Given the description of an element on the screen output the (x, y) to click on. 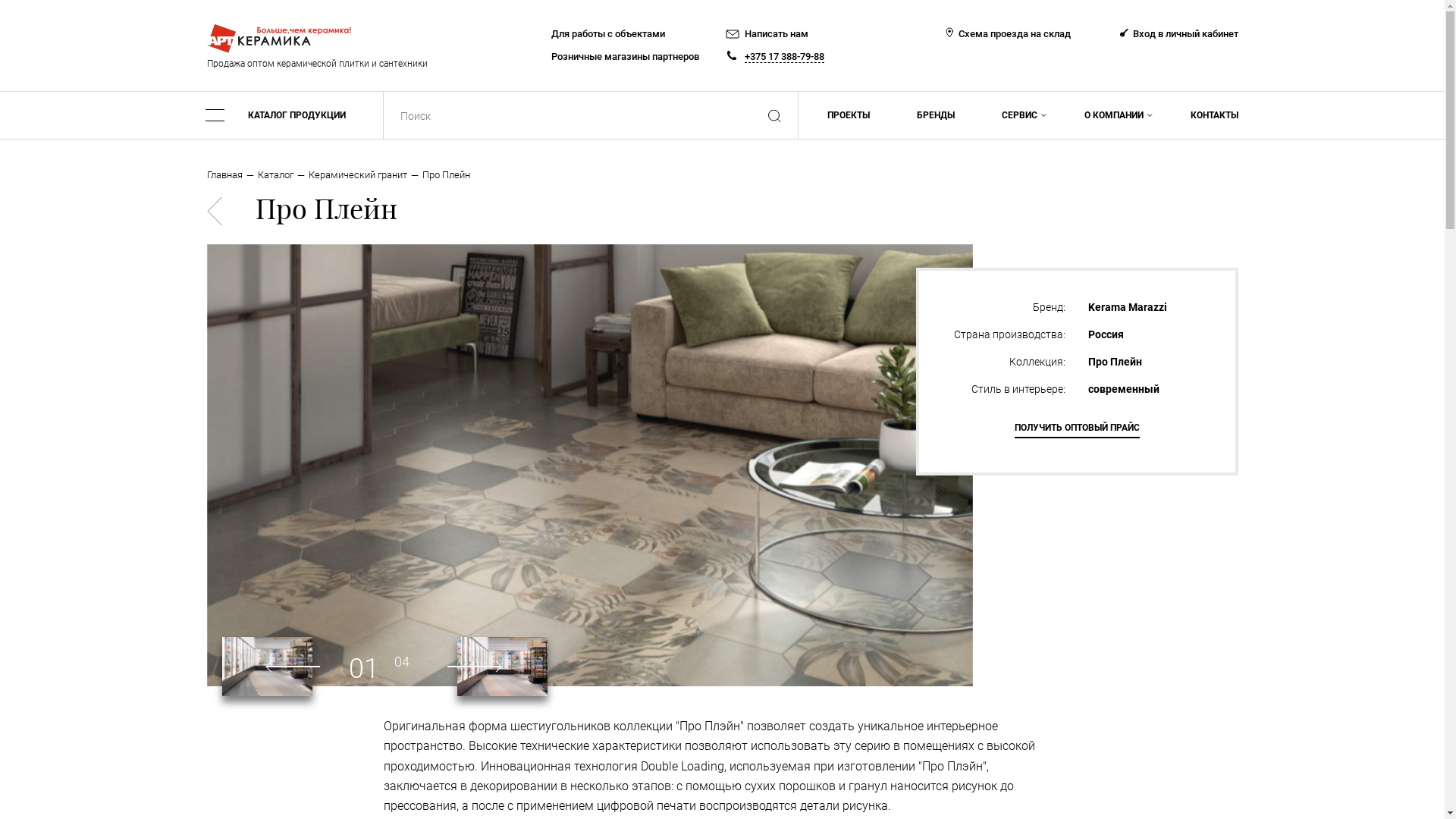
+375 17 388-79-88 Element type: text (784, 55)
